Given the description of an element on the screen output the (x, y) to click on. 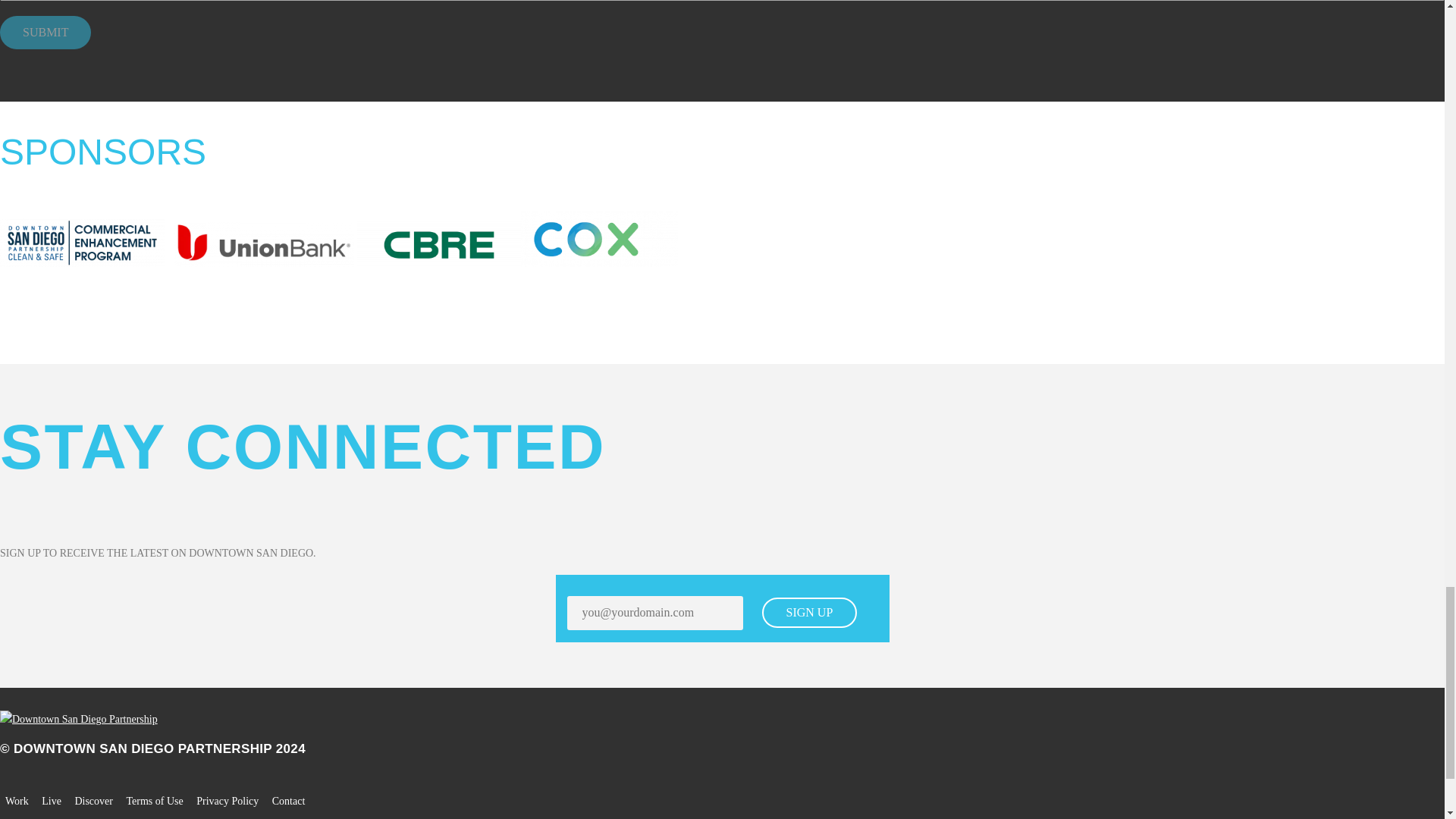
Sign up (809, 612)
Sign up (809, 612)
Work (17, 800)
Live (51, 800)
Discover (93, 800)
SUBMIT (45, 32)
Privacy Policy (227, 800)
Contact (288, 800)
Terms of Use (154, 800)
